Given the description of an element on the screen output the (x, y) to click on. 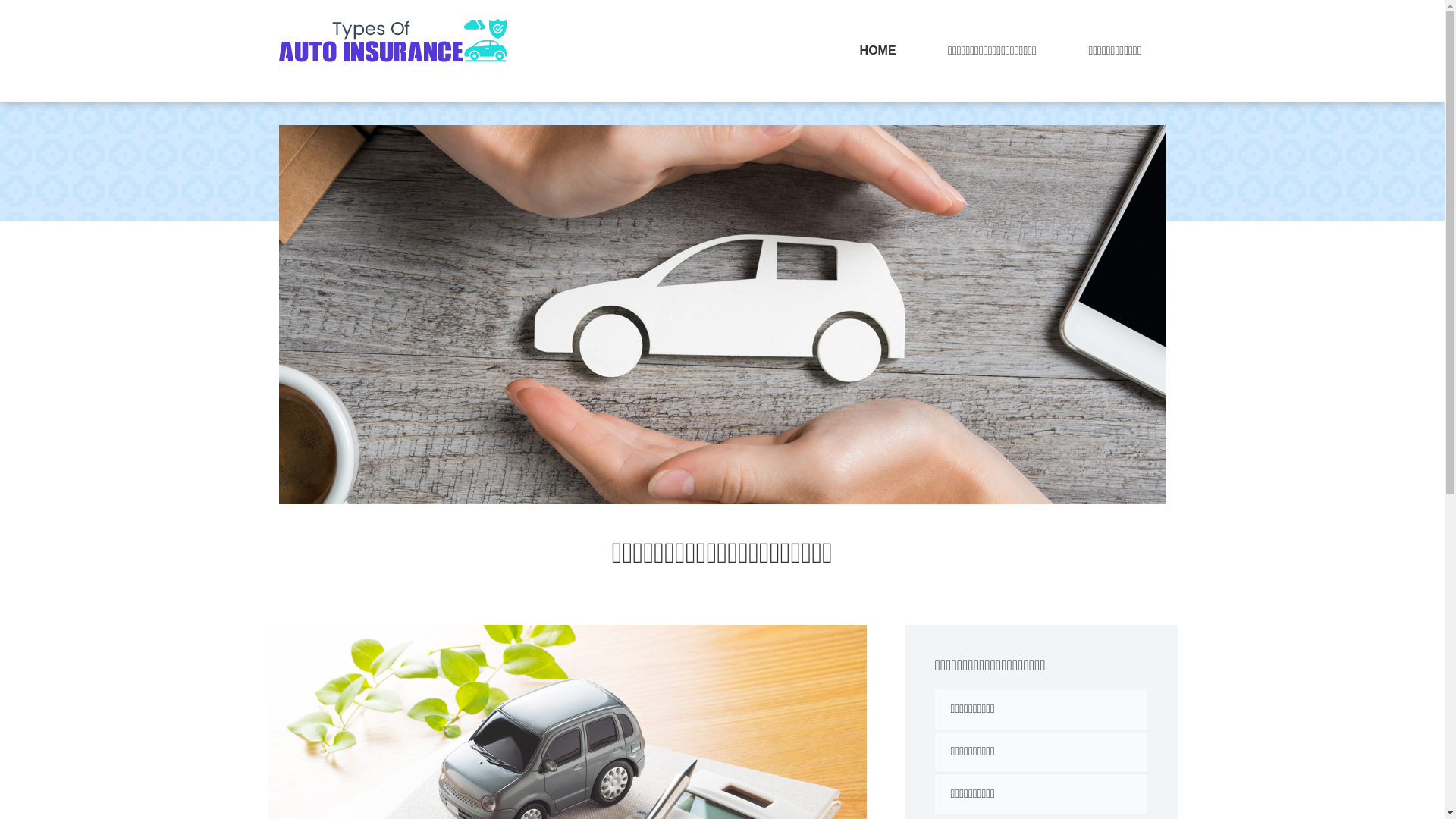
HOME Element type: text (878, 51)
